Given the description of an element on the screen output the (x, y) to click on. 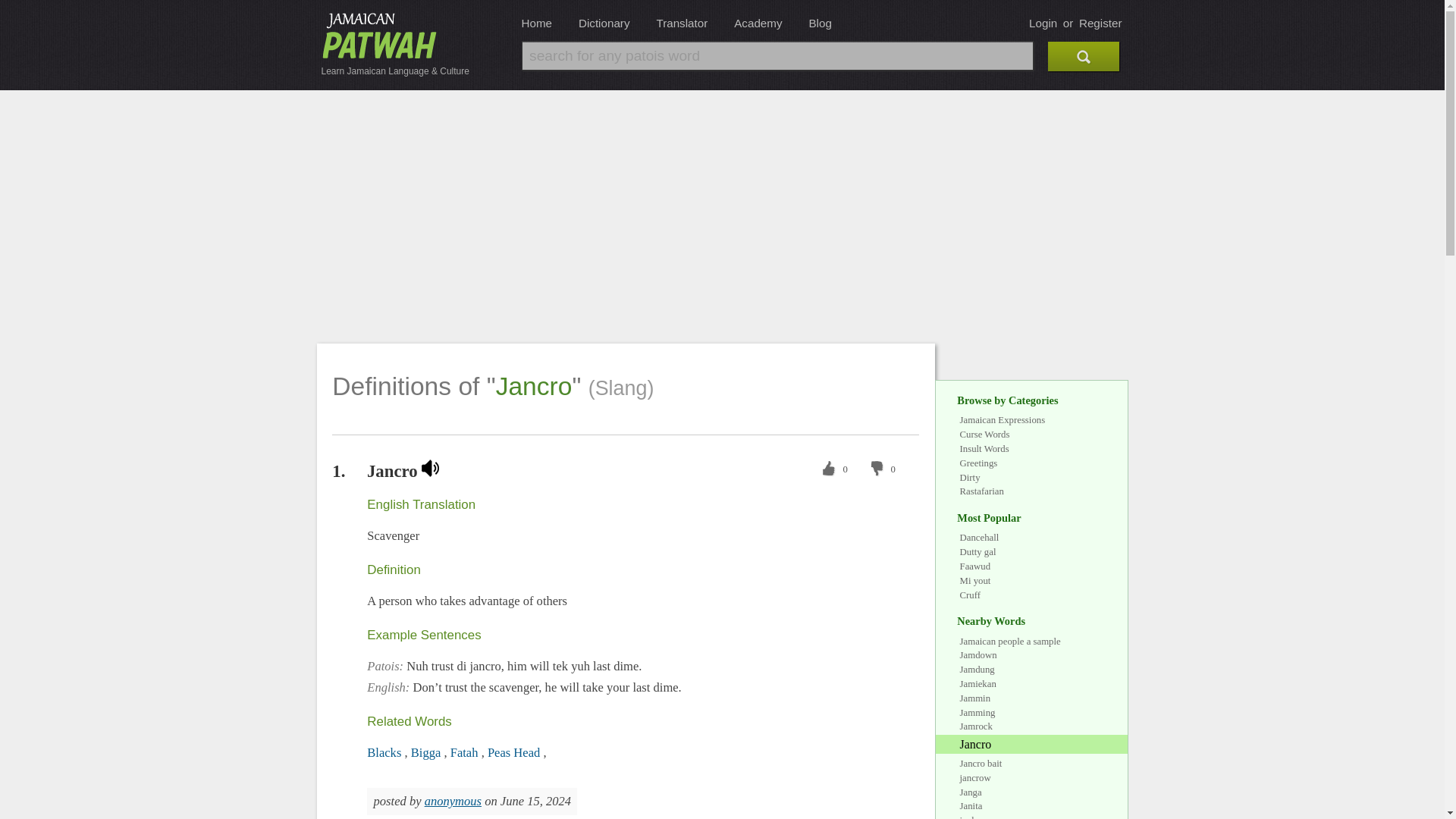
Faawud (975, 566)
Peas Head (515, 752)
Dutty gal (977, 552)
Jamaican people a sample (1010, 641)
Register (1100, 22)
Fatah (465, 752)
Academy (757, 22)
Insult Words (984, 448)
Curse Words (984, 434)
